Given the description of an element on the screen output the (x, y) to click on. 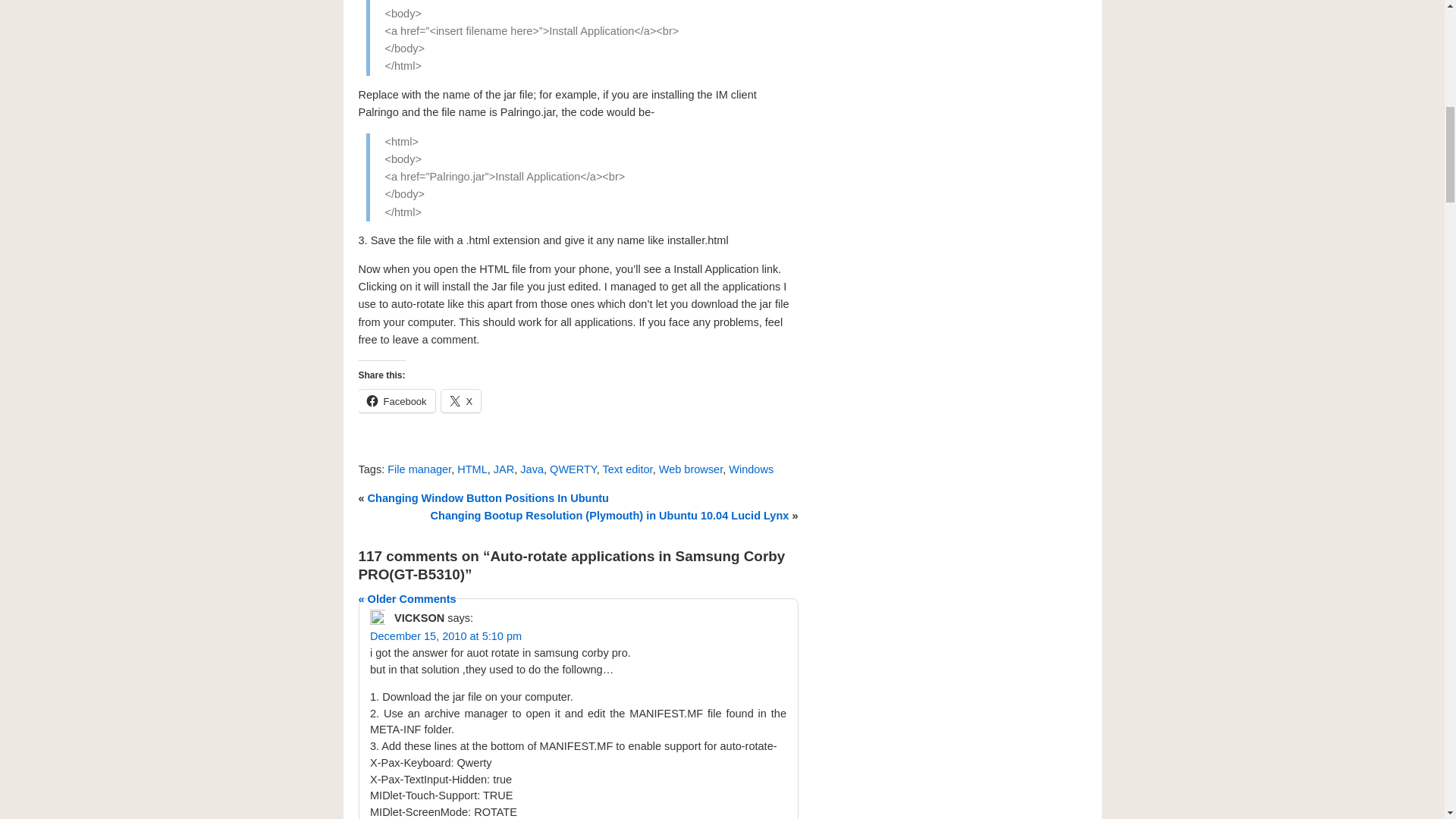
Web browser (690, 469)
Facebook (395, 400)
Windows (751, 469)
Text editor (627, 469)
December 15, 2010 at 5:10 pm (445, 635)
JAR (503, 469)
Changing Window Button Positions In Ubuntu (488, 498)
Click to share on Facebook (395, 400)
QWERTY (573, 469)
Click to share on X (461, 400)
